Given the description of an element on the screen output the (x, y) to click on. 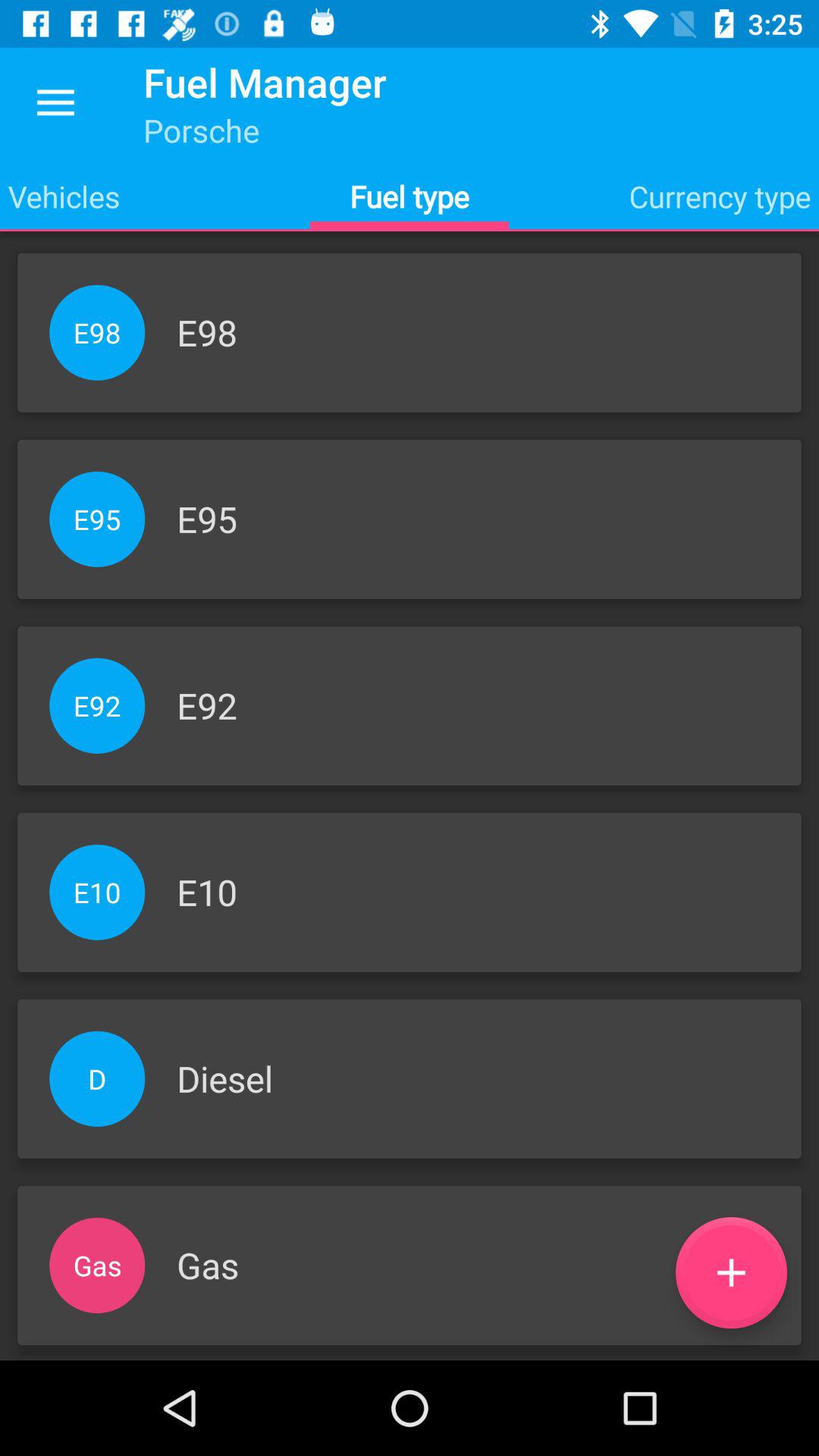
add feature (731, 1272)
